Given the description of an element on the screen output the (x, y) to click on. 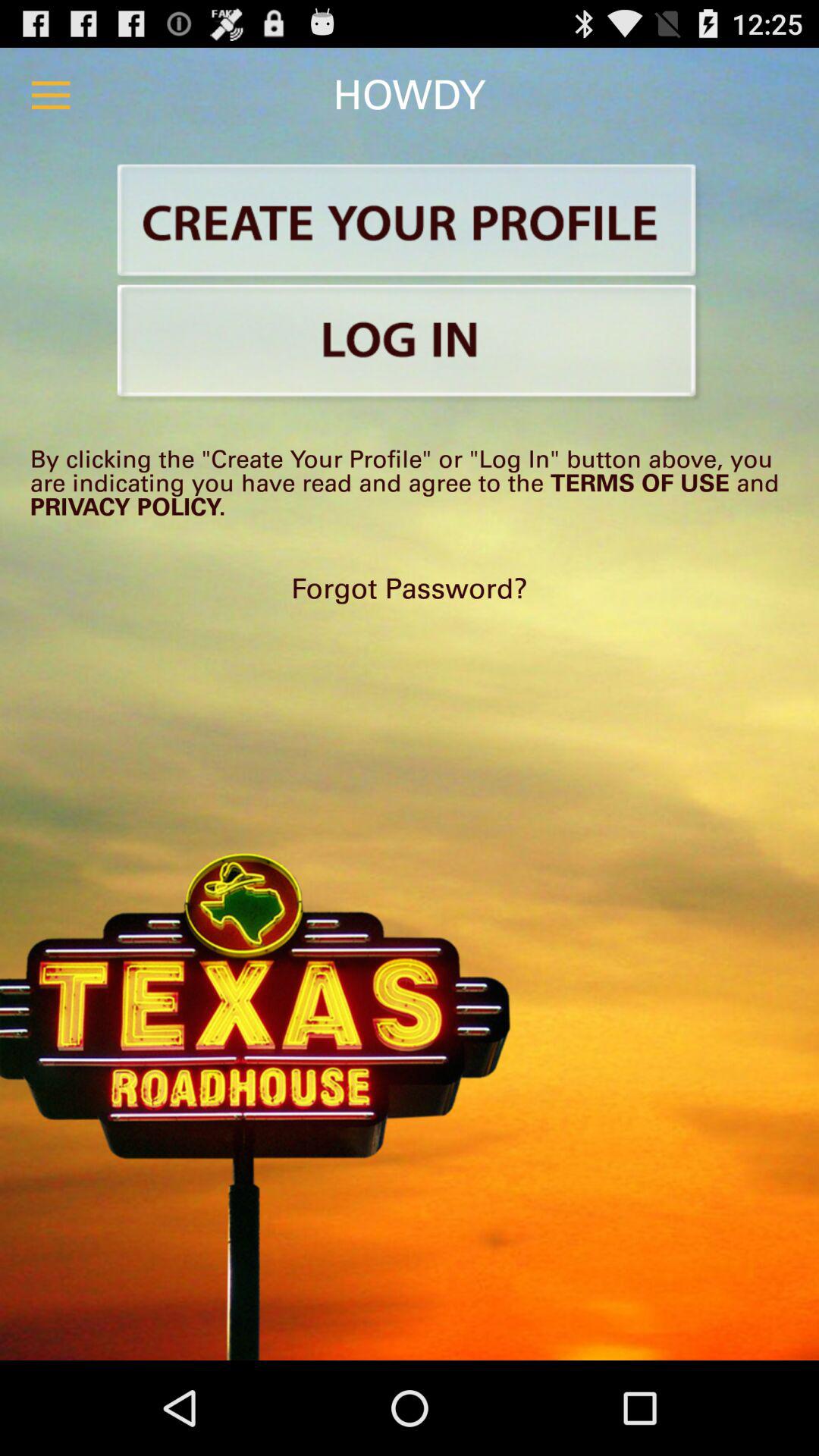
create your profile (409, 223)
